Given the description of an element on the screen output the (x, y) to click on. 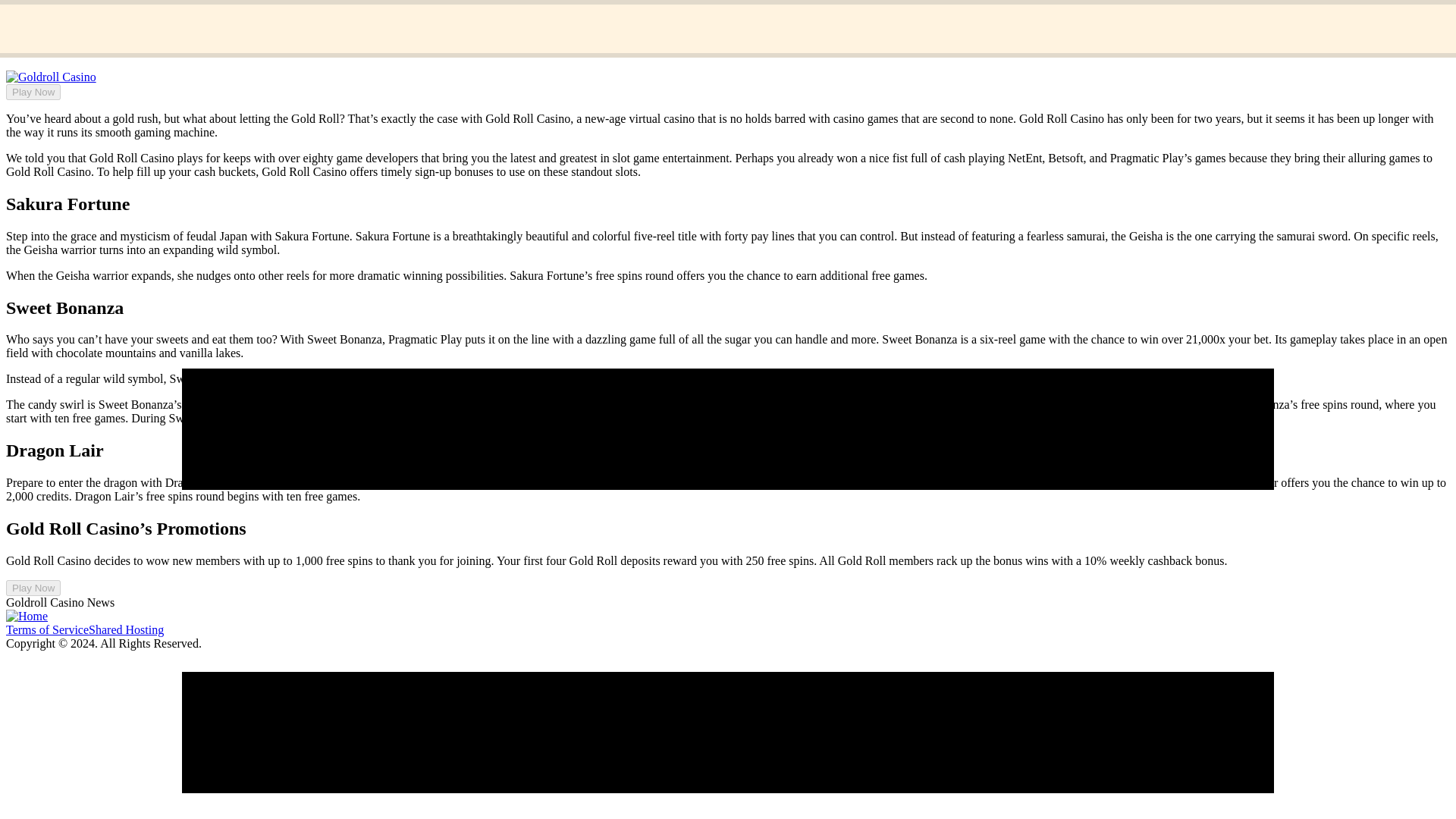
Shared Hosting (125, 629)
Play Now (33, 91)
Play Now (33, 587)
Terms of Service (46, 629)
